Given the description of an element on the screen output the (x, y) to click on. 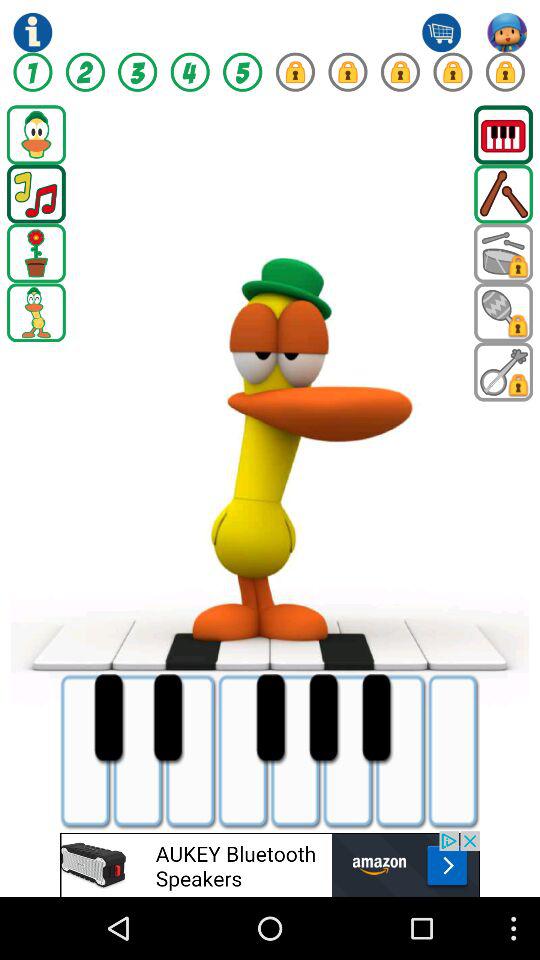
number paga (137, 71)
